Given the description of an element on the screen output the (x, y) to click on. 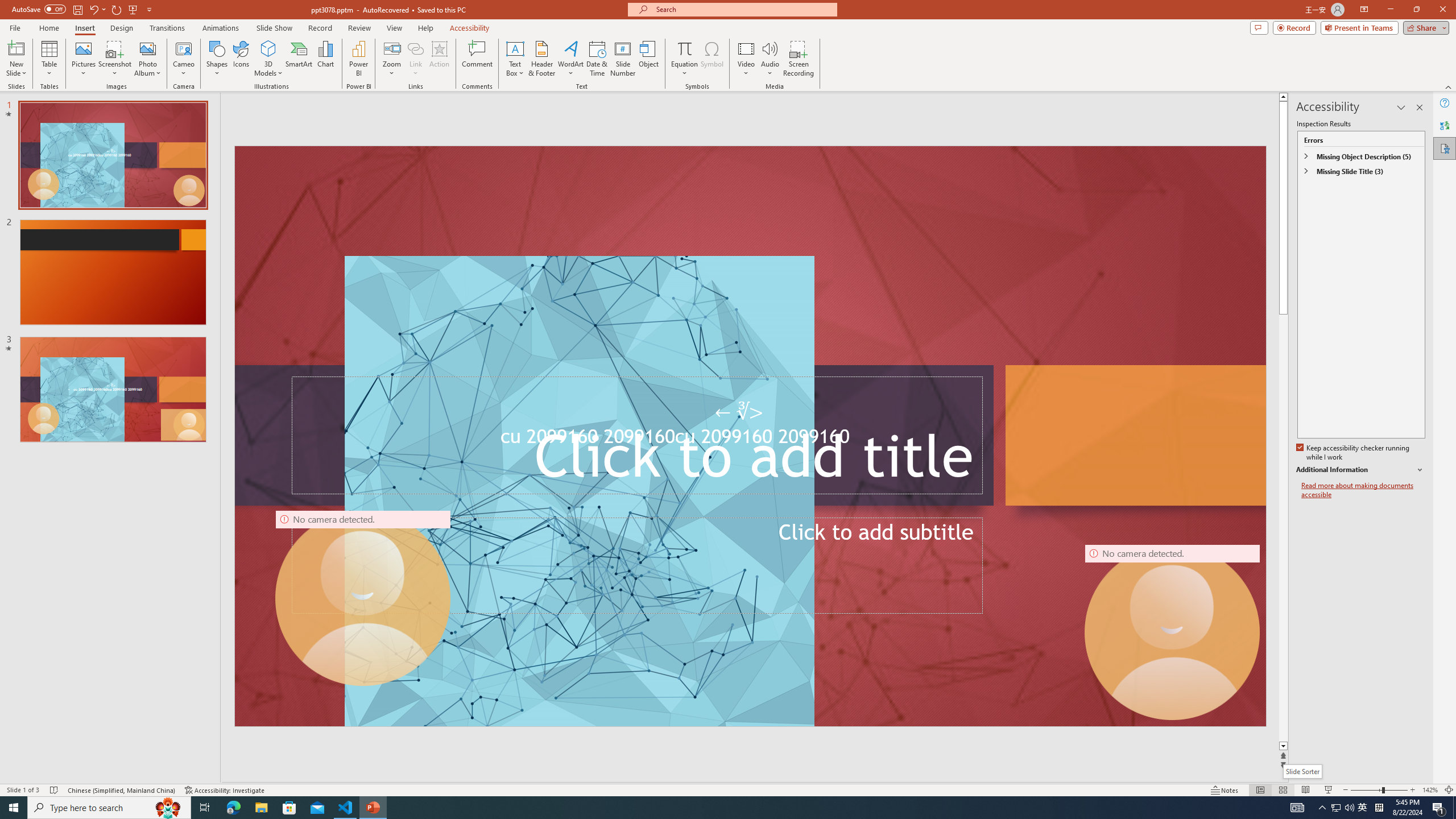
Reading View (1305, 790)
Transitions (167, 28)
Link (415, 48)
Screen Recording... (798, 58)
Video (745, 58)
Ribbon Display Options (1364, 9)
Photo Album... (147, 58)
New Slide (16, 58)
Pictures (83, 58)
Slide Number (622, 58)
Cameo (183, 48)
Zoom Out (1366, 790)
